Given the description of an element on the screen output the (x, y) to click on. 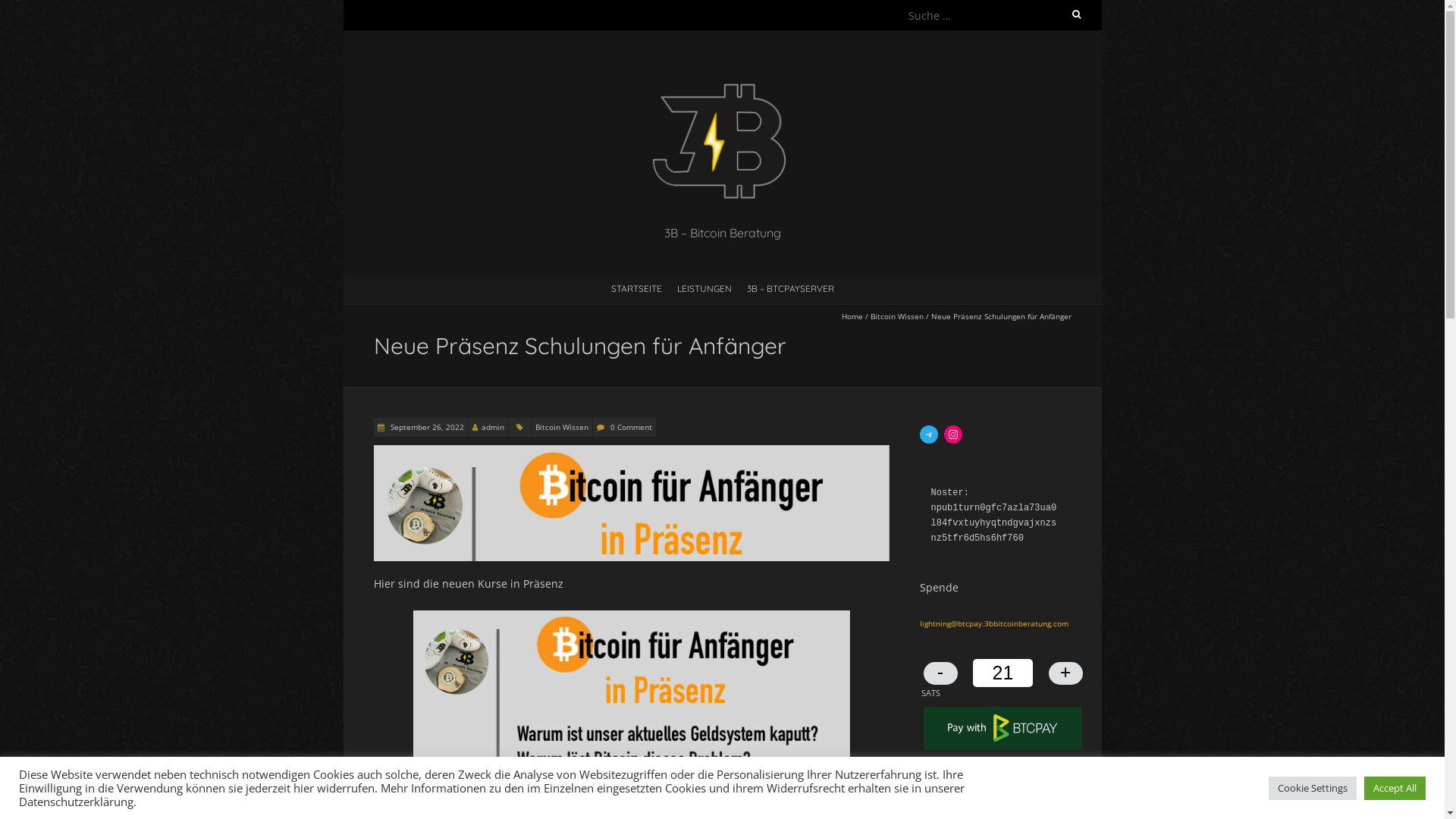
Category Element type: hover (519, 426)
+ Element type: text (1065, 673)
LEISTUNGEN Element type: text (703, 287)
Instagram Element type: text (952, 434)
- Element type: text (940, 673)
Suche Element type: text (26, 9)
STARTSEITE Element type: text (636, 287)
September 26, 2022 Element type: text (426, 426)
Telegram Element type: text (928, 434)
Cookie Settings Element type: text (1312, 788)
Bitcoin Wissen Element type: text (560, 426)
0 Comment Element type: text (630, 426)
Home Element type: text (851, 315)
3B Bitcoin Beratung Element type: hover (721, 67)
admin Element type: text (491, 426)
Bitcoin Wissen Element type: text (896, 315)
Accept All Element type: text (1394, 788)
